Given the description of an element on the screen output the (x, y) to click on. 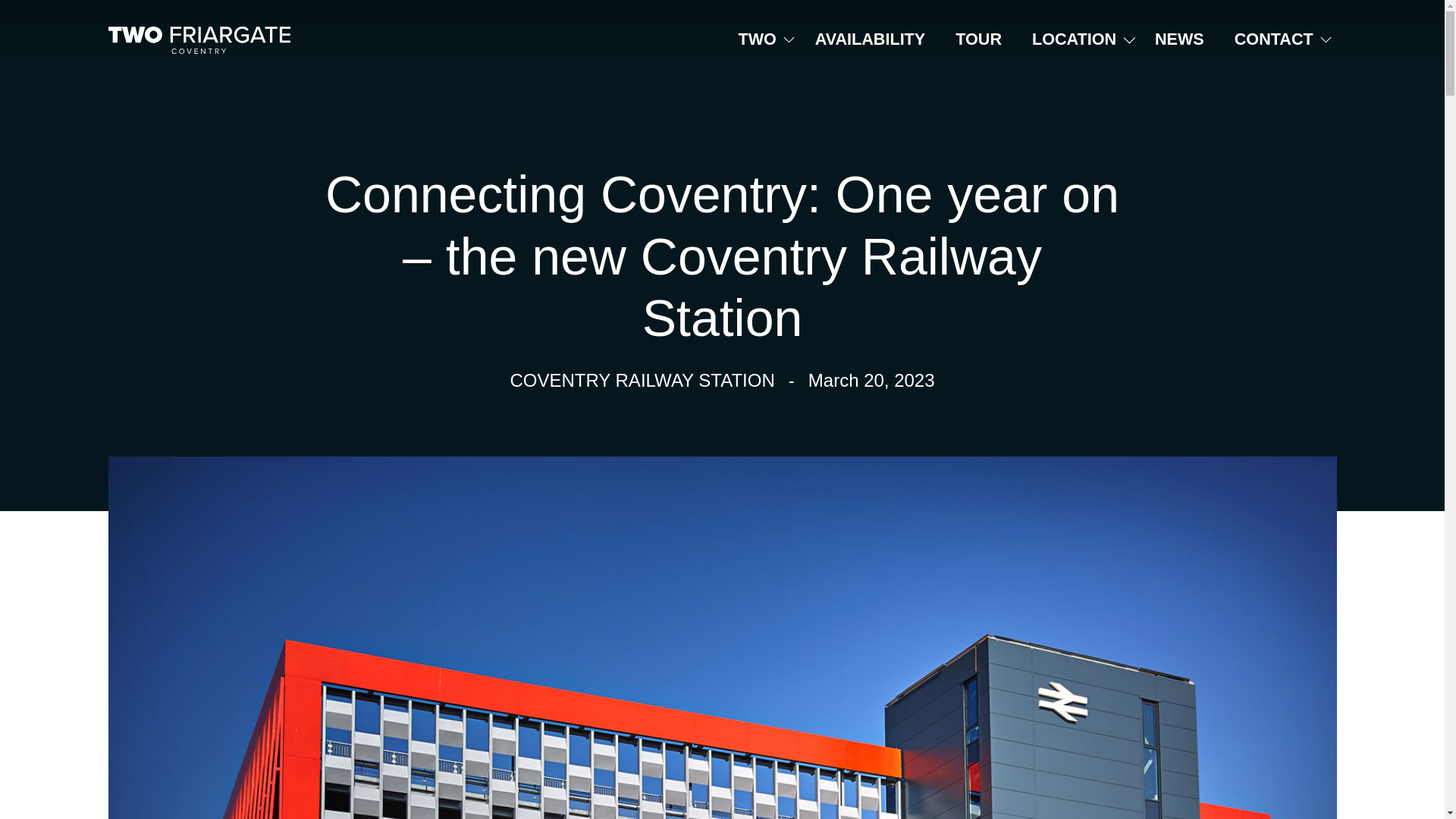
COVENTRY RAILWAY STATION (641, 380)
NEWS (1180, 39)
CONTACT (1273, 39)
TOUR (978, 39)
LOCATION (1073, 39)
AVAILABILITY (869, 39)
TWO (757, 39)
Skip to content (52, 19)
